Given the description of an element on the screen output the (x, y) to click on. 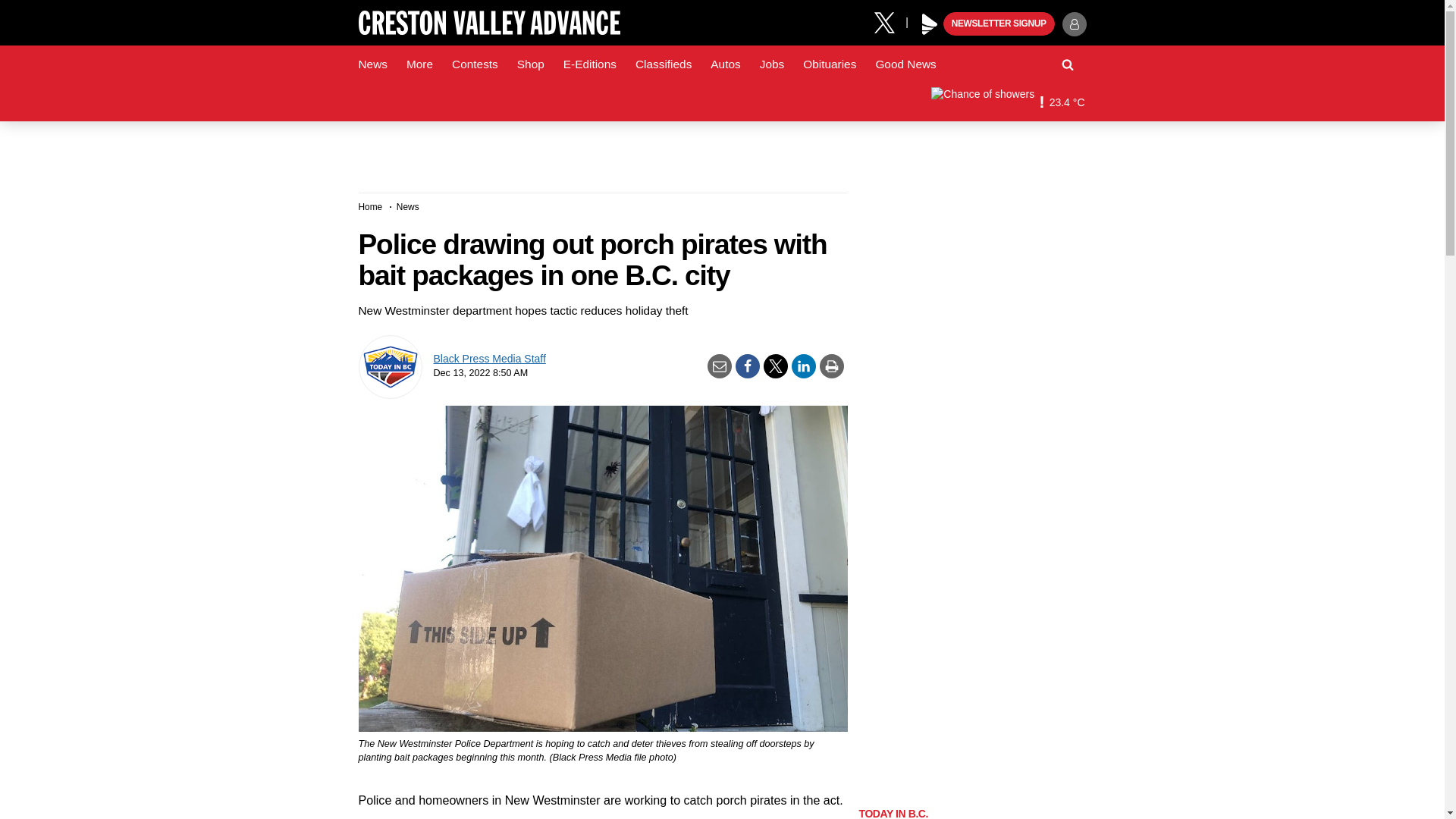
News (372, 64)
NEWSLETTER SIGNUP (998, 24)
Black Press Media (929, 24)
X (889, 21)
Play (929, 24)
